Given the description of an element on the screen output the (x, y) to click on. 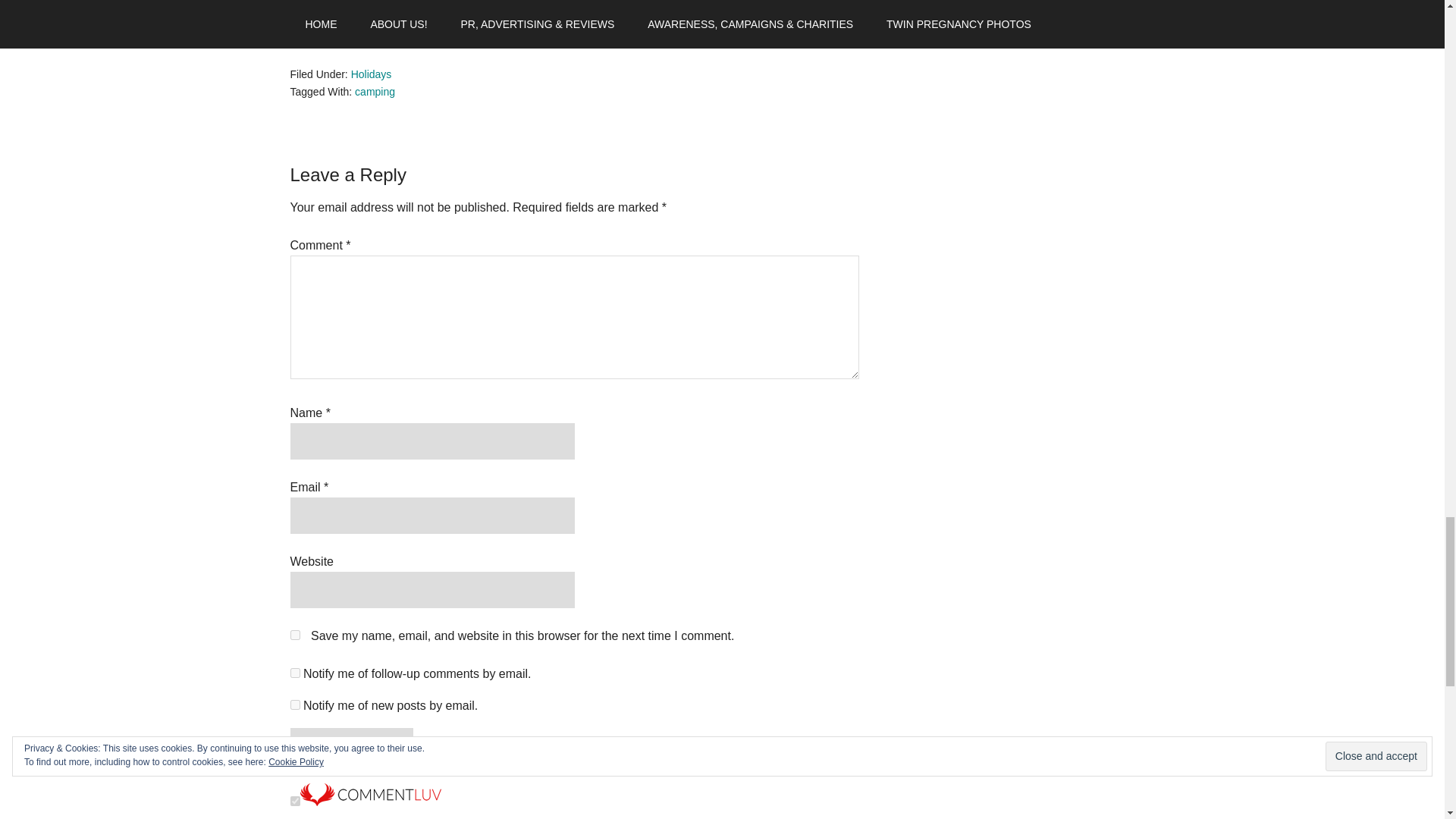
yes (294, 634)
Post Comment (350, 746)
camping (374, 91)
subscribe (294, 673)
subscribe (294, 705)
on (294, 800)
Holidays (370, 73)
Post Comment (350, 746)
